Given the description of an element on the screen output the (x, y) to click on. 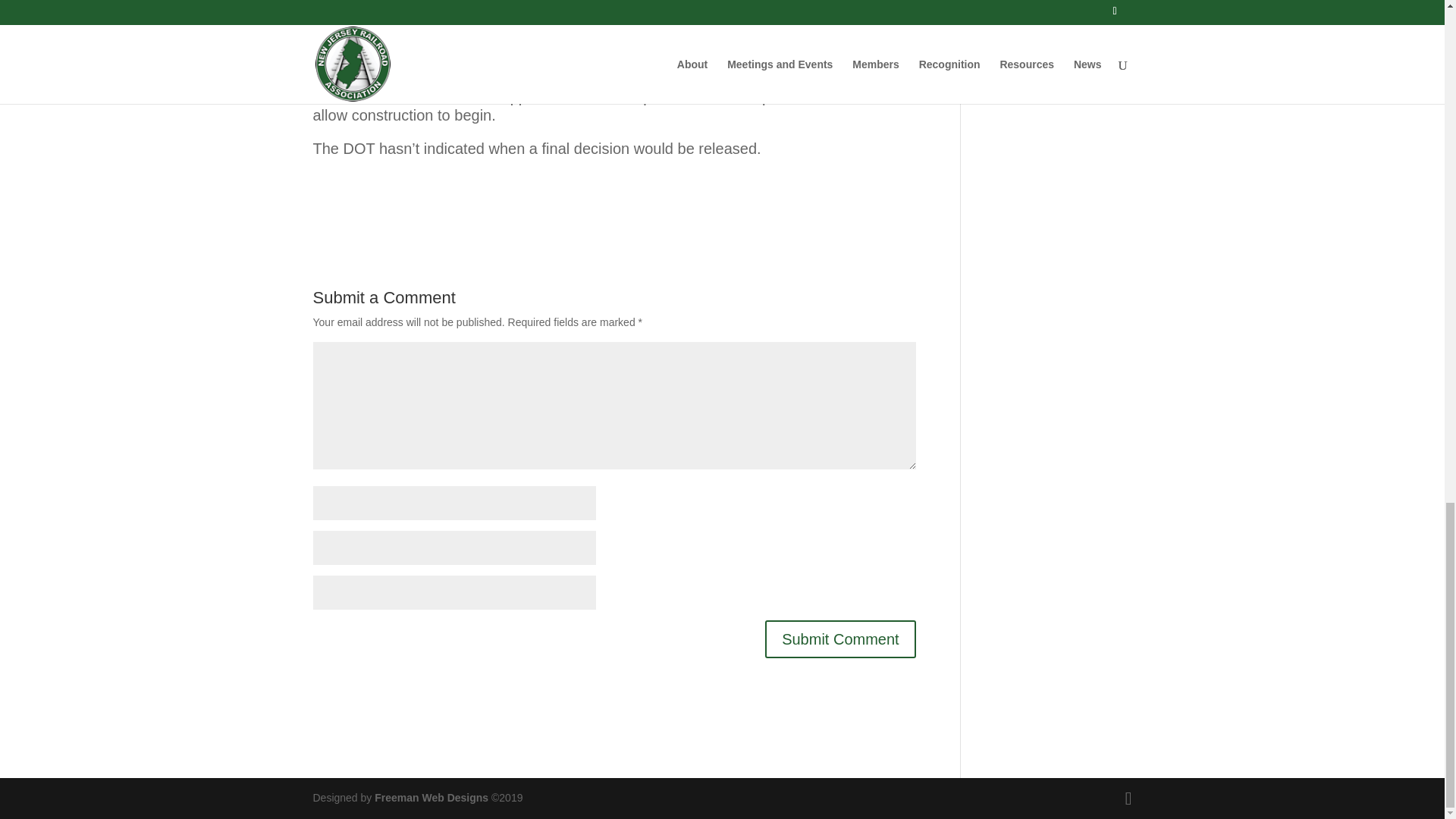
Freeman Web Designs (430, 797)
Submit Comment (840, 638)
Submit Comment (840, 638)
